Given the description of an element on the screen output the (x, y) to click on. 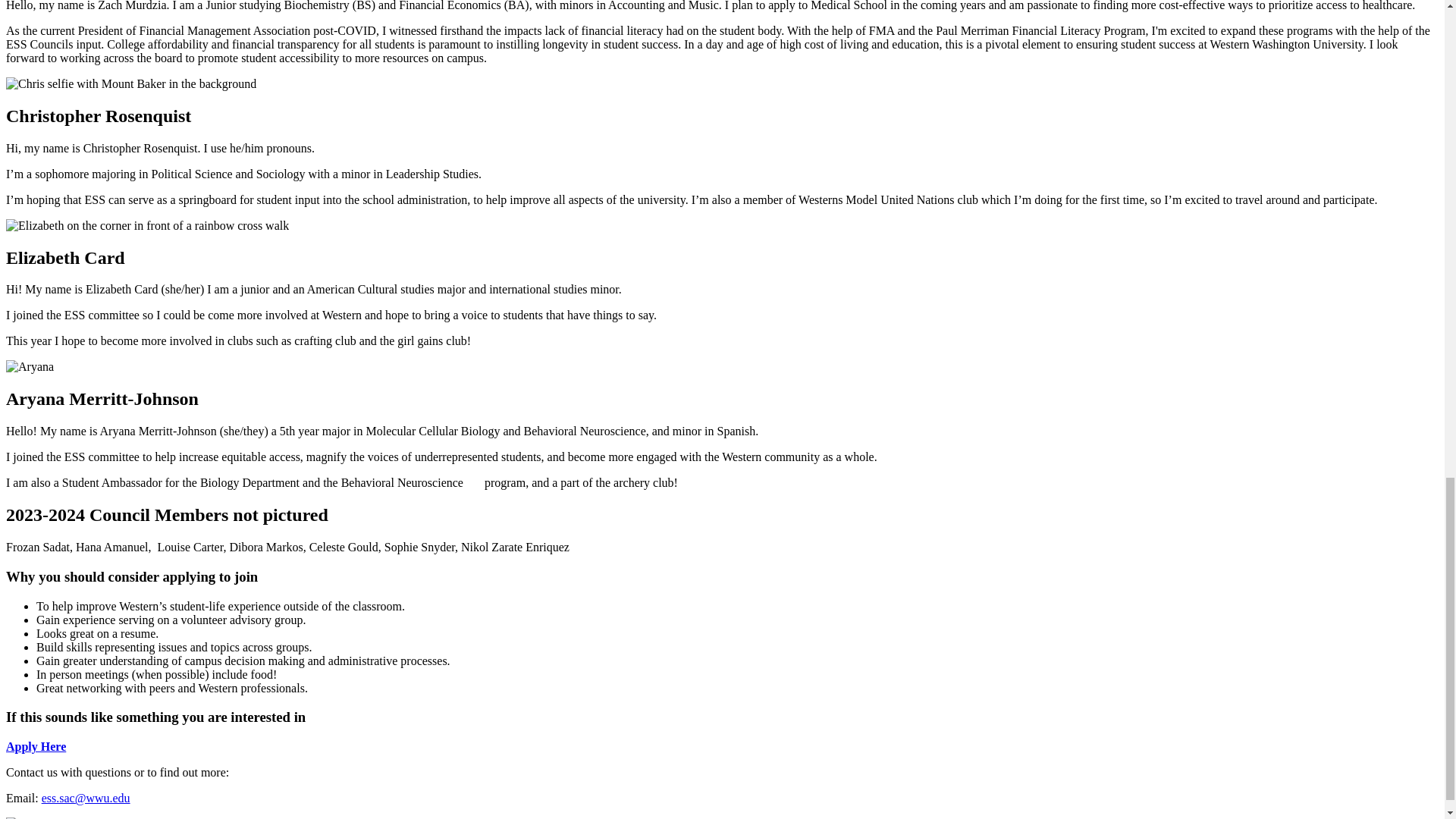
Apply Here (35, 746)
